Given the description of an element on the screen output the (x, y) to click on. 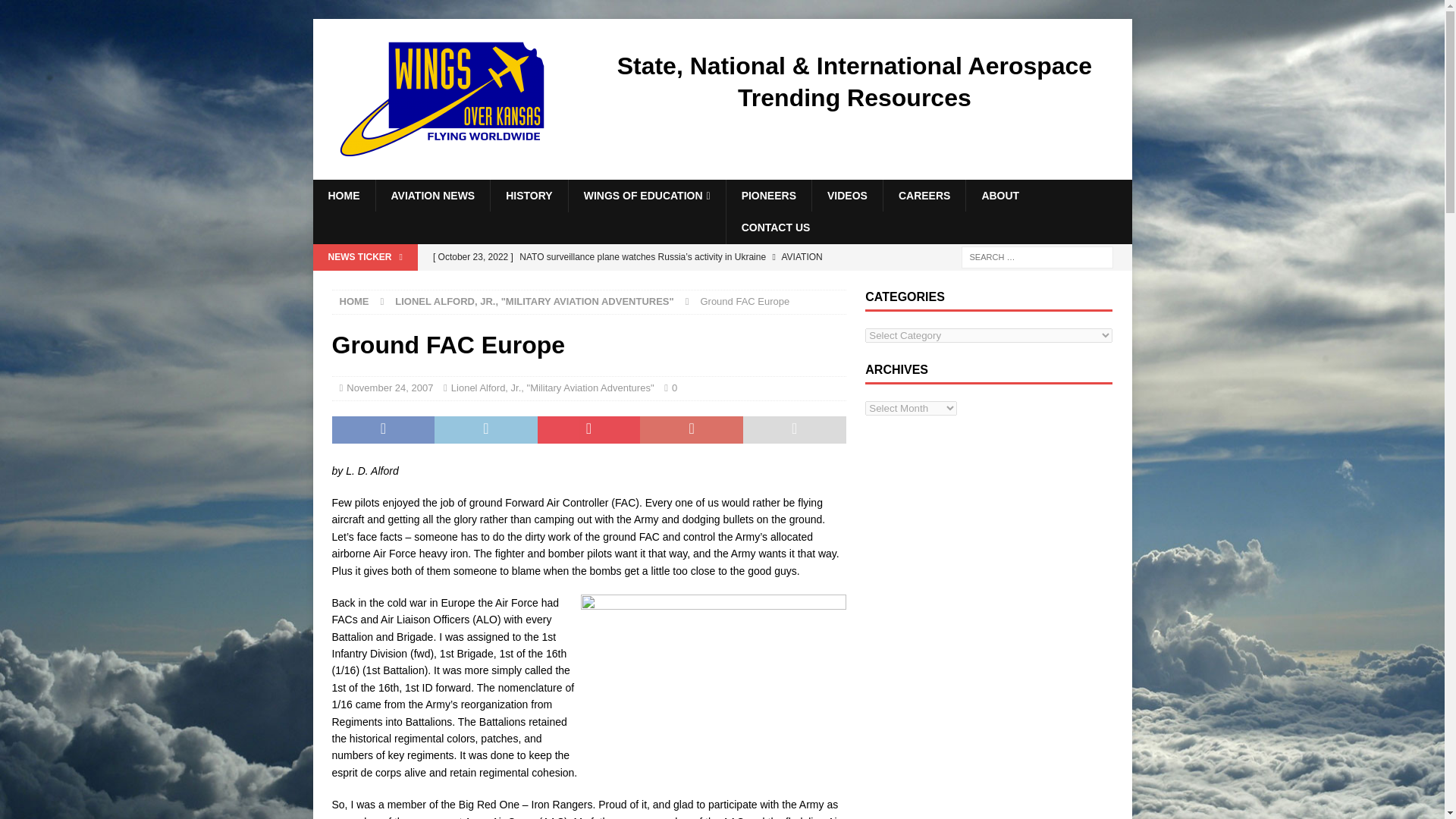
LIONEL ALFORD, JR., "MILITARY AVIATION ADVENTURES" (533, 301)
Search (56, 11)
November 24, 2007 (389, 387)
AVIATION NEWS (431, 195)
Lionel Alford, Jr., "Military Aviation Adventures" (552, 387)
HISTORY (528, 195)
CONTACT US (775, 227)
VIDEOS (846, 195)
HOME (354, 301)
HOME (343, 195)
CAREERS (923, 195)
WINGS OF EDUCATION (646, 195)
ABOUT (999, 195)
PIONEERS (767, 195)
